Given the description of an element on the screen output the (x, y) to click on. 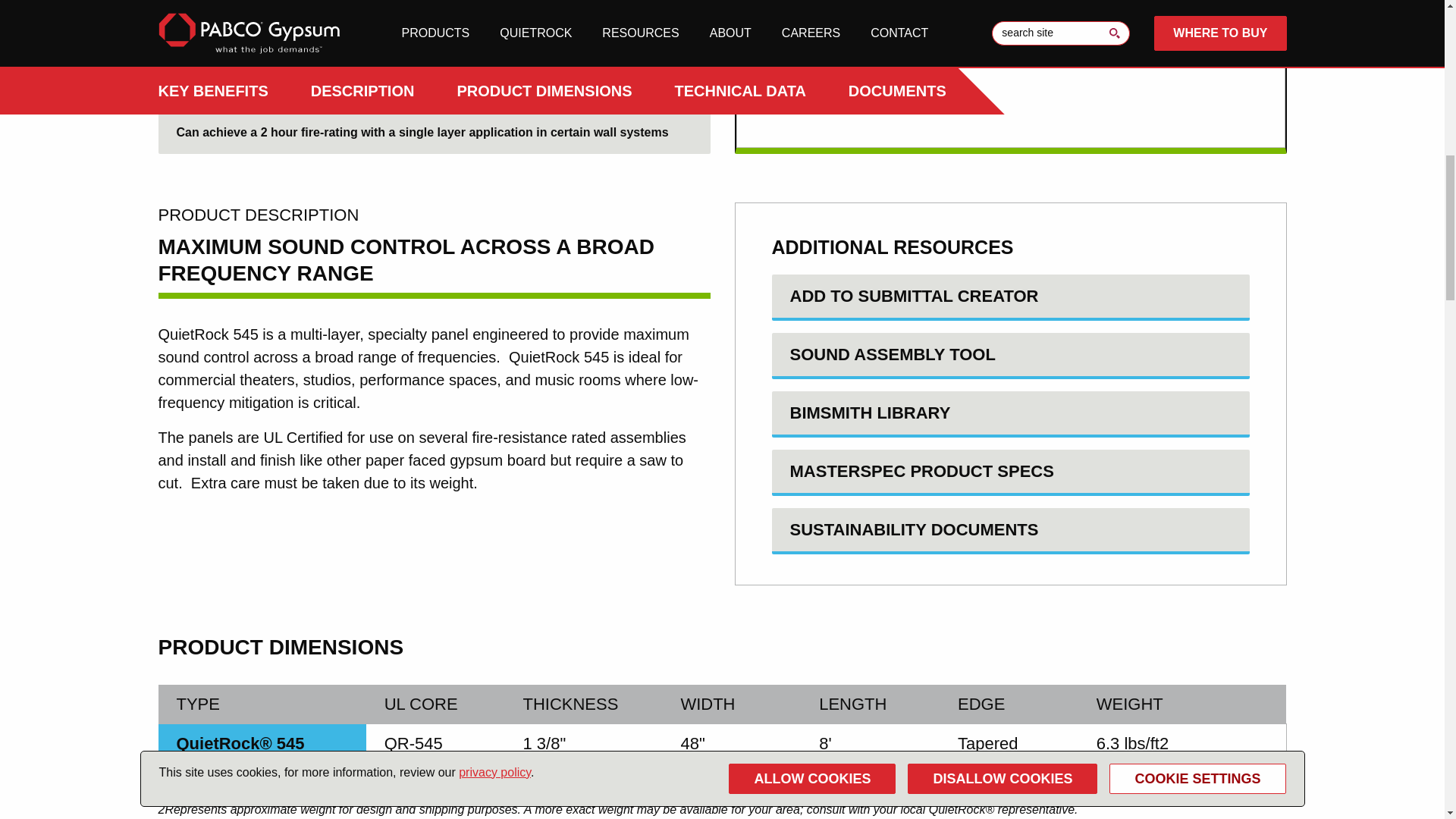
SOUND ASSEMBLY TOOL (1010, 355)
MASTERSPEC PRODUCT SPECS (1010, 471)
BIMSMITH LIBRARY (1010, 414)
ADD TO SUBMITTAL CREATOR (1010, 297)
